Given the description of an element on the screen output the (x, y) to click on. 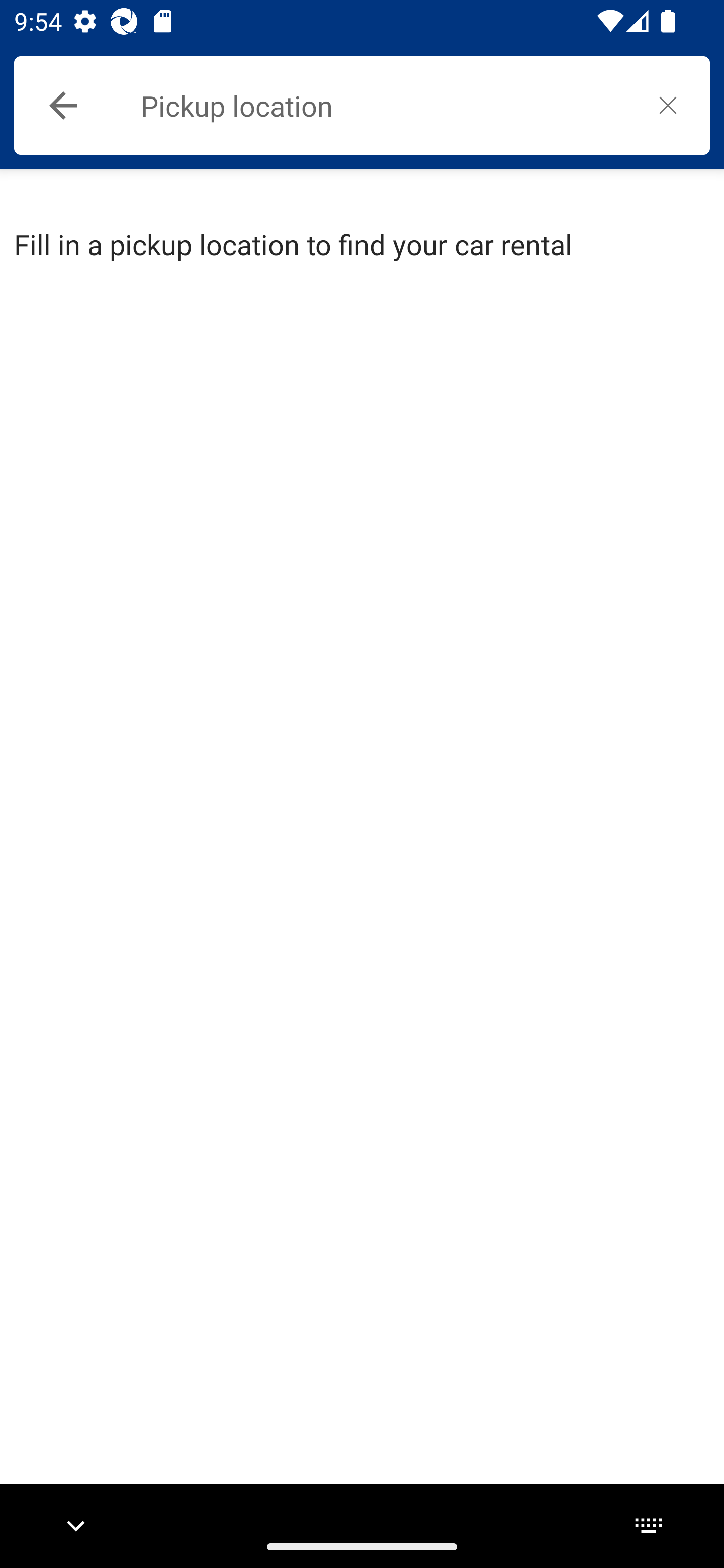
Navigate up (62, 105)
놕 (667, 104)
Pickup location (382, 105)
